Given the description of an element on the screen output the (x, y) to click on. 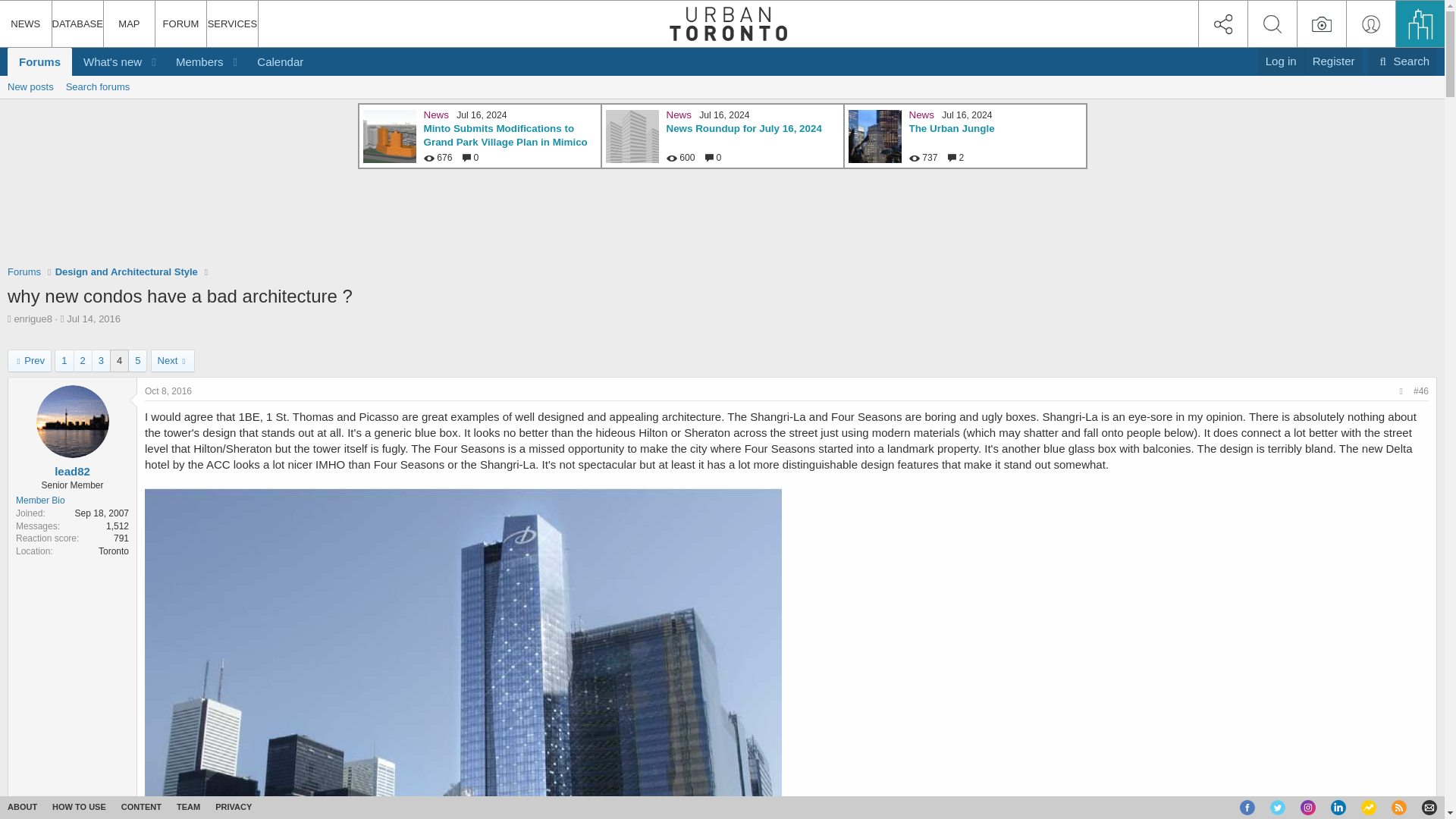
Oct 8, 2016 at 11:18 PM (168, 390)
Forums (23, 272)
1 (63, 360)
Jul 14, 2016 (93, 318)
Members (194, 61)
Prev (160, 61)
What's new (28, 360)
Calendar (106, 61)
Forums (280, 61)
Register (39, 61)
delta-jpg.88455 (1333, 60)
Search forums (1402, 61)
